Given the description of an element on the screen output the (x, y) to click on. 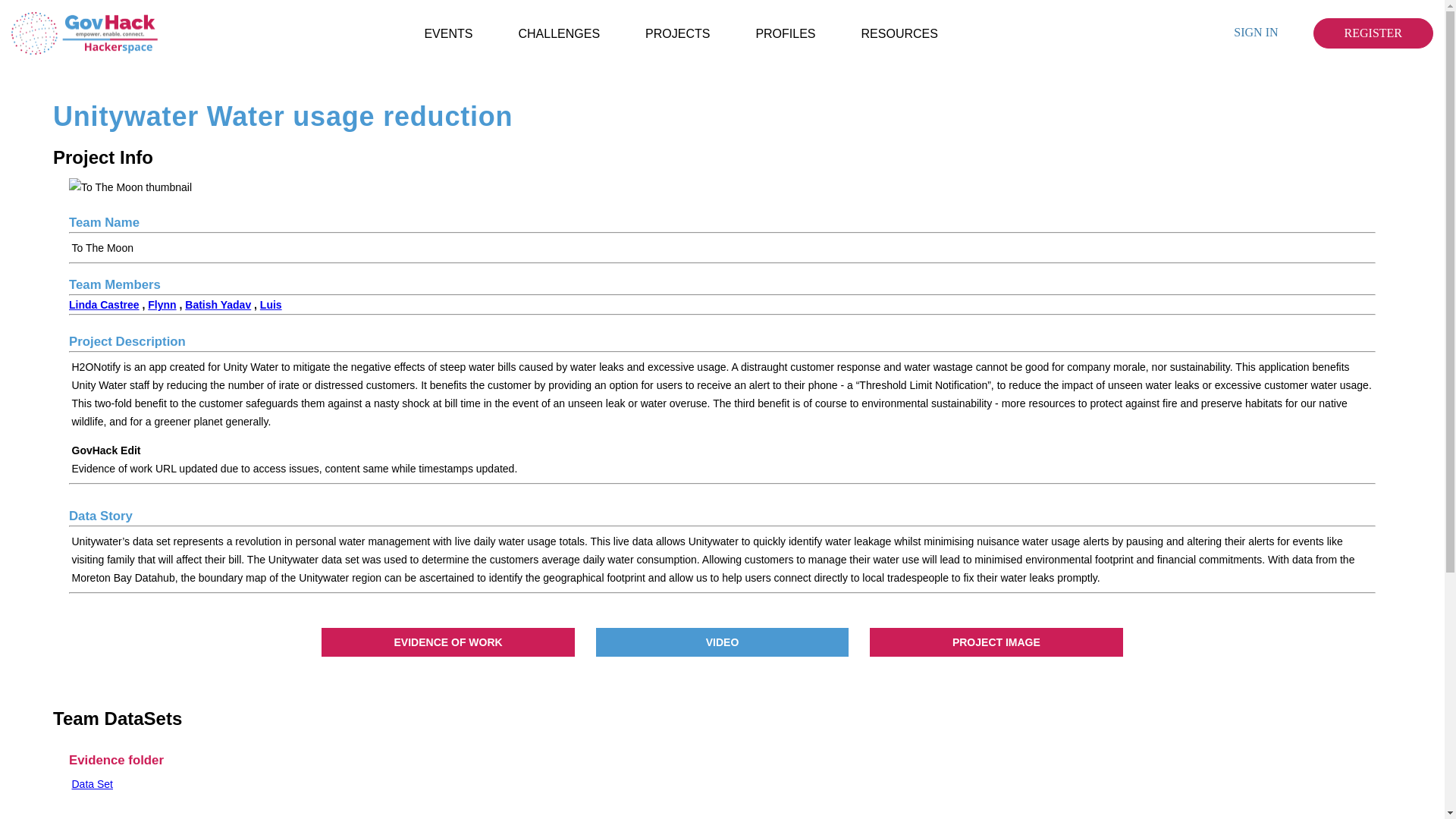
PROFILES (785, 33)
Flynn (162, 304)
Luis (271, 304)
SIGN IN (1255, 33)
PROJECT IMAGE (995, 642)
REGISTER (1372, 33)
EVENTS (448, 33)
VIDEO (721, 642)
EVIDENCE OF WORK (447, 642)
RESOURCES (899, 33)
